Given the description of an element on the screen output the (x, y) to click on. 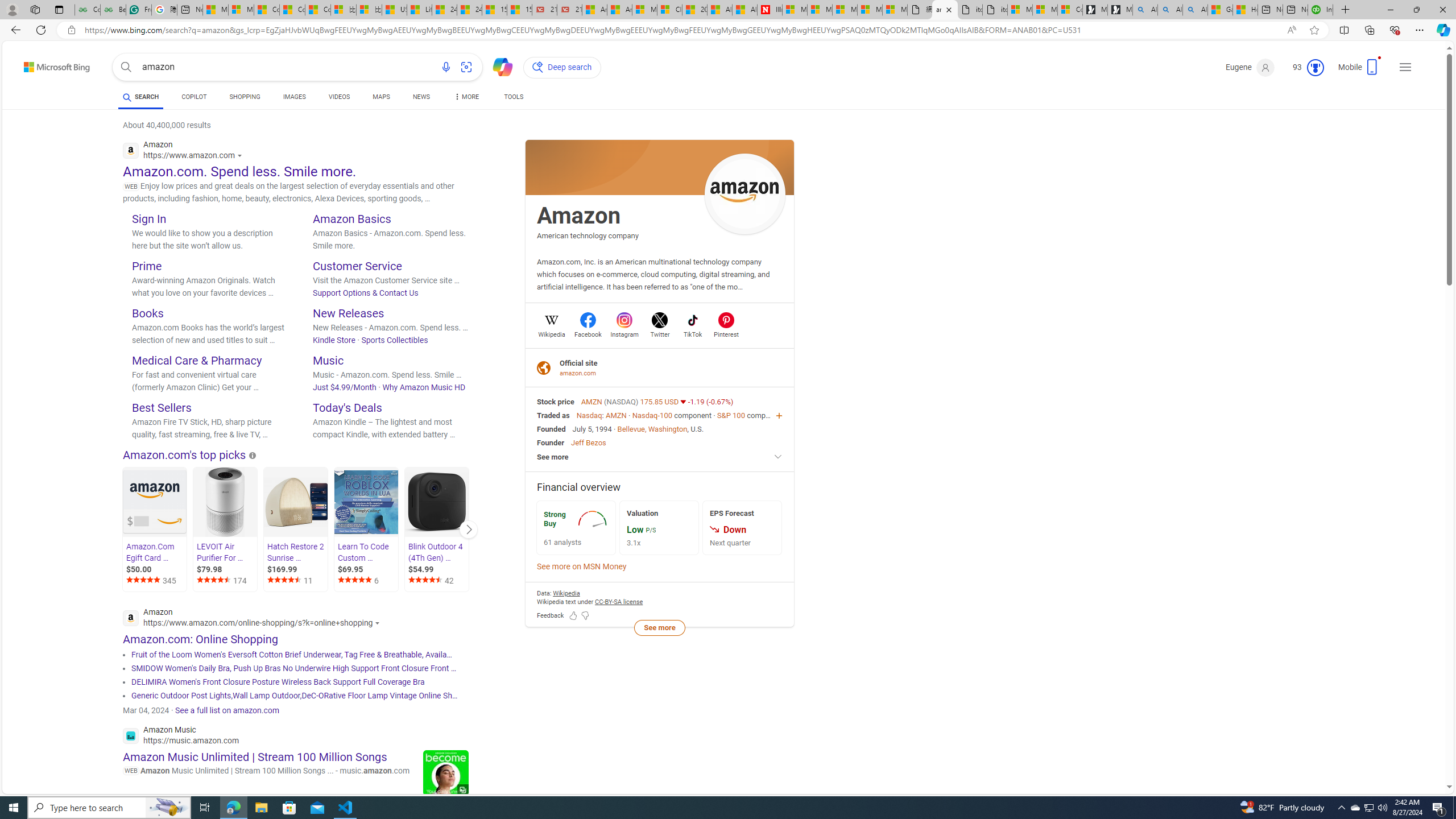
Eugene (1249, 67)
COPILOT (193, 96)
Best Sellers (162, 407)
Books (147, 313)
Customer Service (357, 265)
Microsoft account | Privacy (1044, 9)
Class: spl_logobg (659, 167)
